Given the description of an element on the screen output the (x, y) to click on. 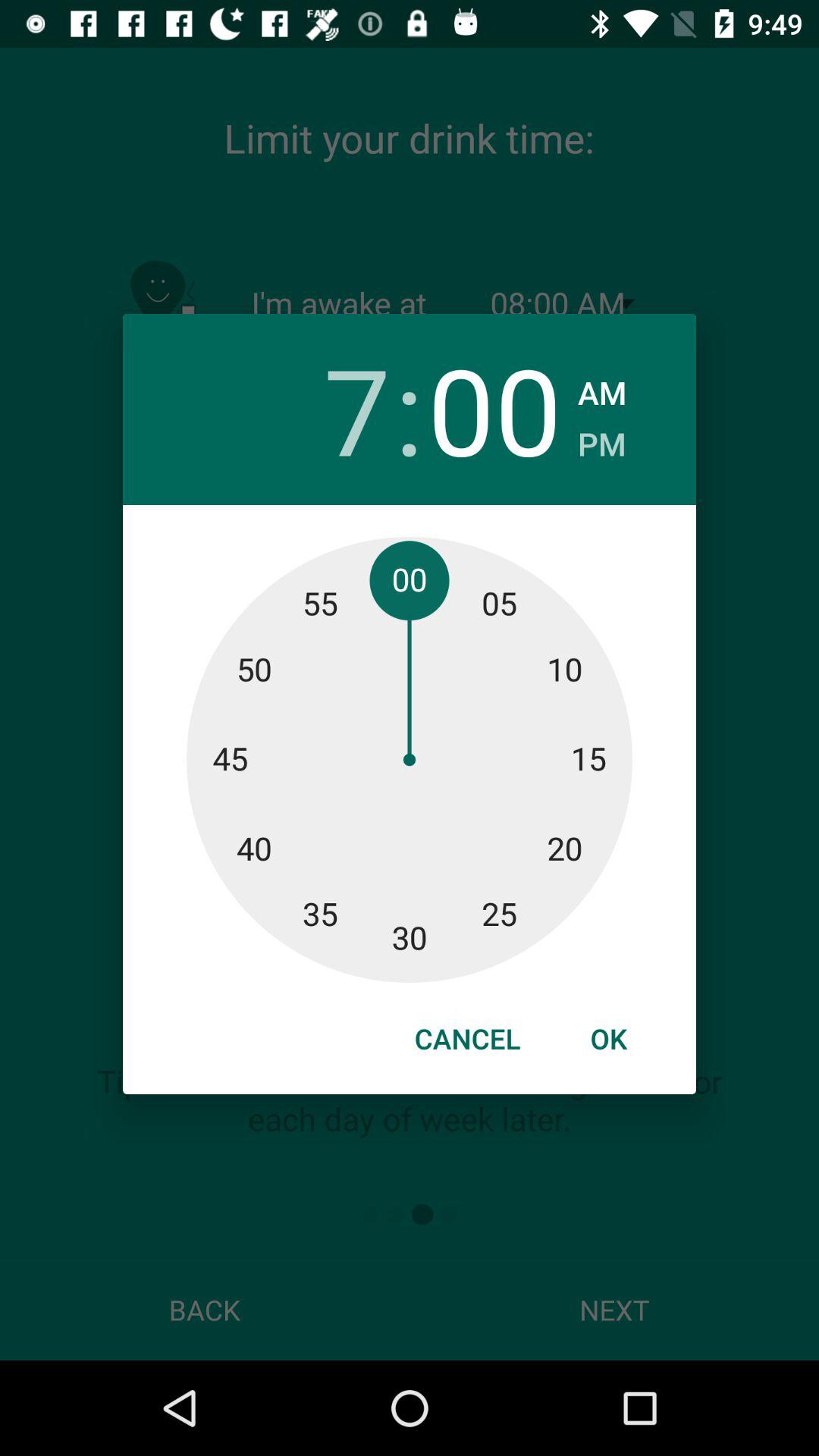
click the icon to the right of the : icon (494, 408)
